Given the description of an element on the screen output the (x, y) to click on. 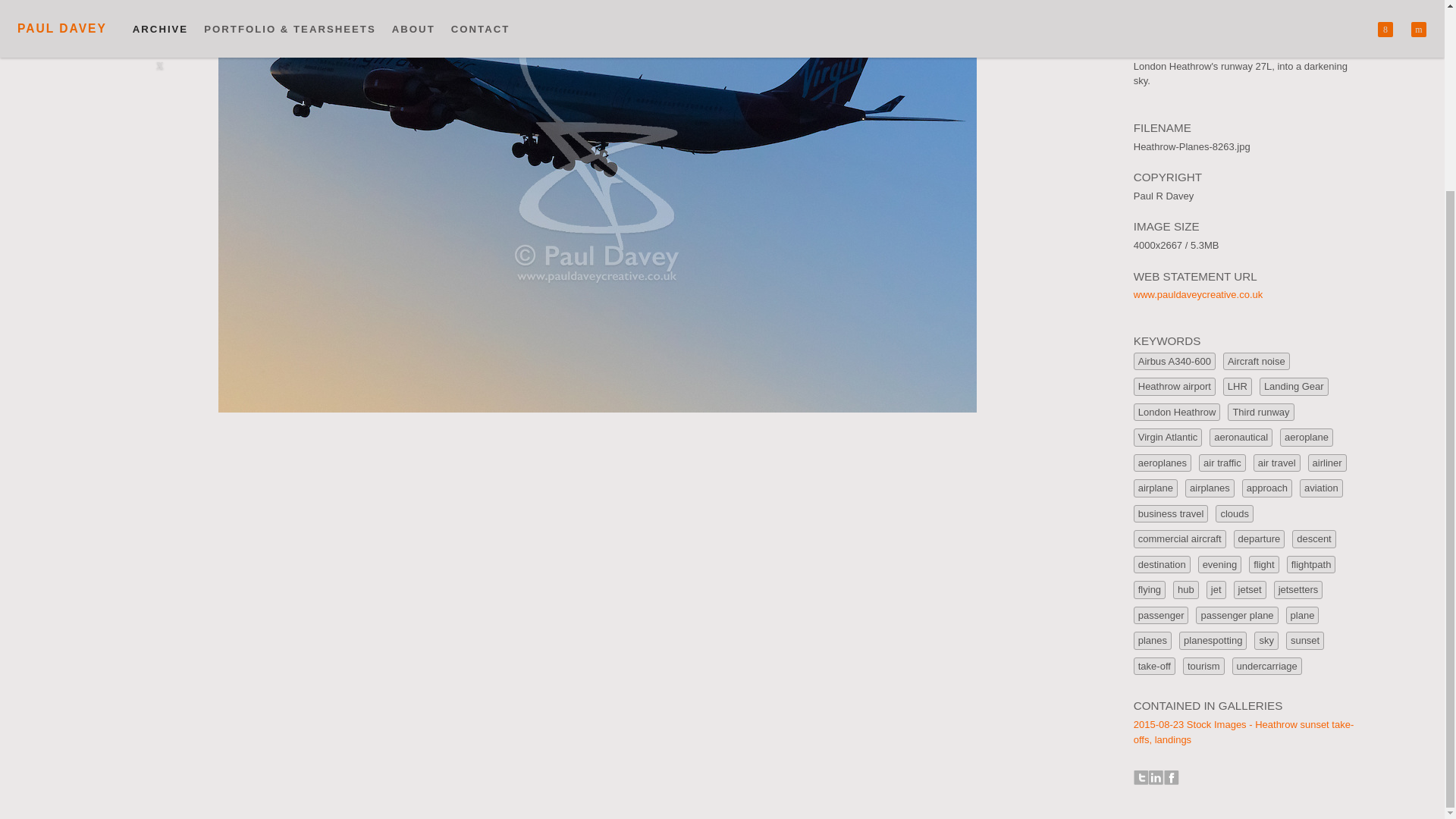
airplane (1155, 488)
www.pauldaveycreative.co.uk (1198, 294)
Landing Gear (1293, 386)
aeroplanes (1162, 463)
Airbus A340-600 (1174, 361)
airliner (1326, 463)
aeroplane (1306, 437)
ADD TO LIGHTBOX (1188, 27)
air traffic (1222, 463)
ADD TO CART (1247, 5)
